Given the description of an element on the screen output the (x, y) to click on. 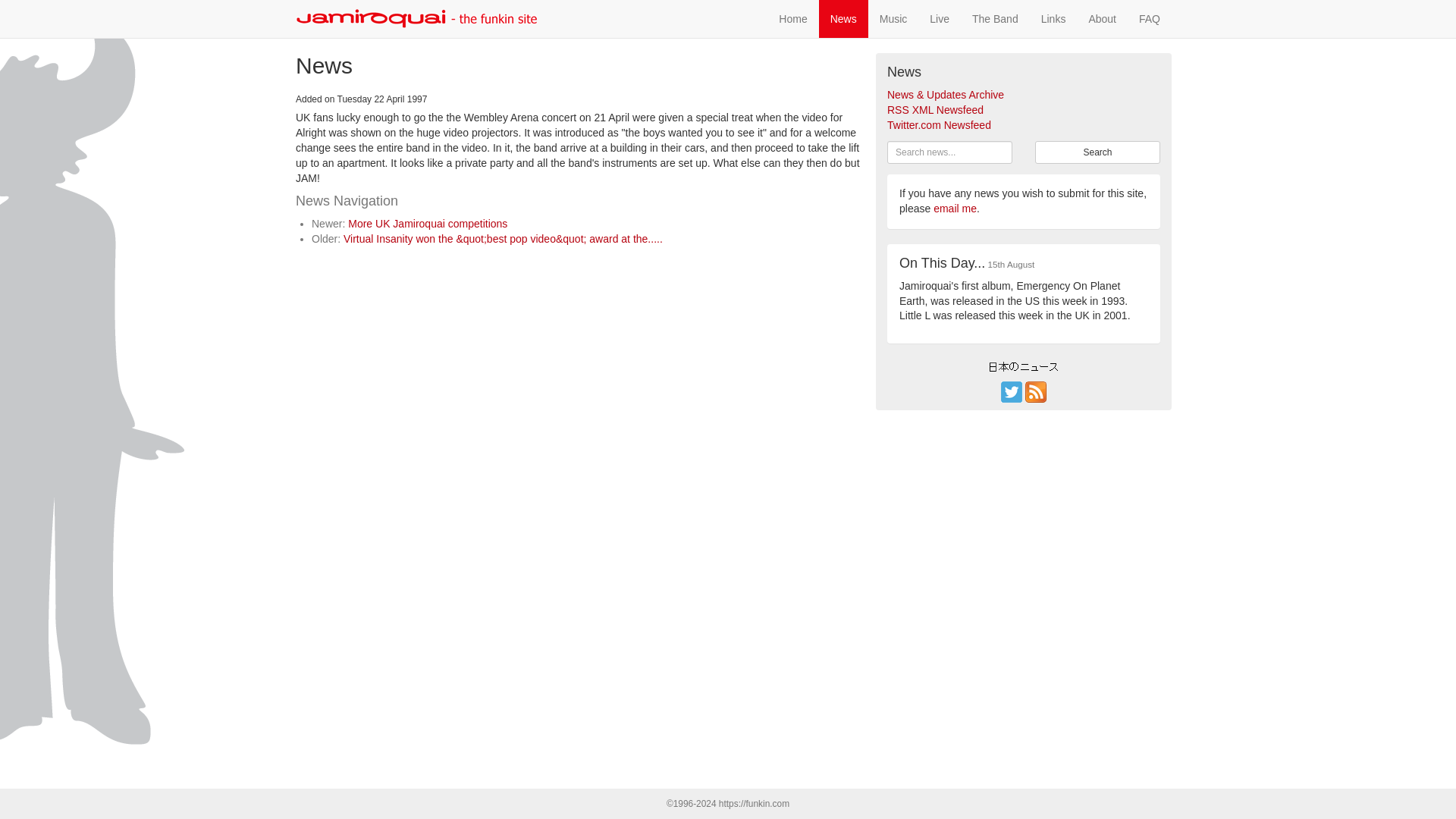
RSS XML Newsfeed (935, 110)
The Band (994, 18)
Links (1053, 18)
email me (954, 208)
Home (792, 18)
About this site (1101, 18)
The latest news about Jamiroquai (842, 18)
Search (1097, 151)
News (842, 18)
Music (892, 18)
